Given the description of an element on the screen output the (x, y) to click on. 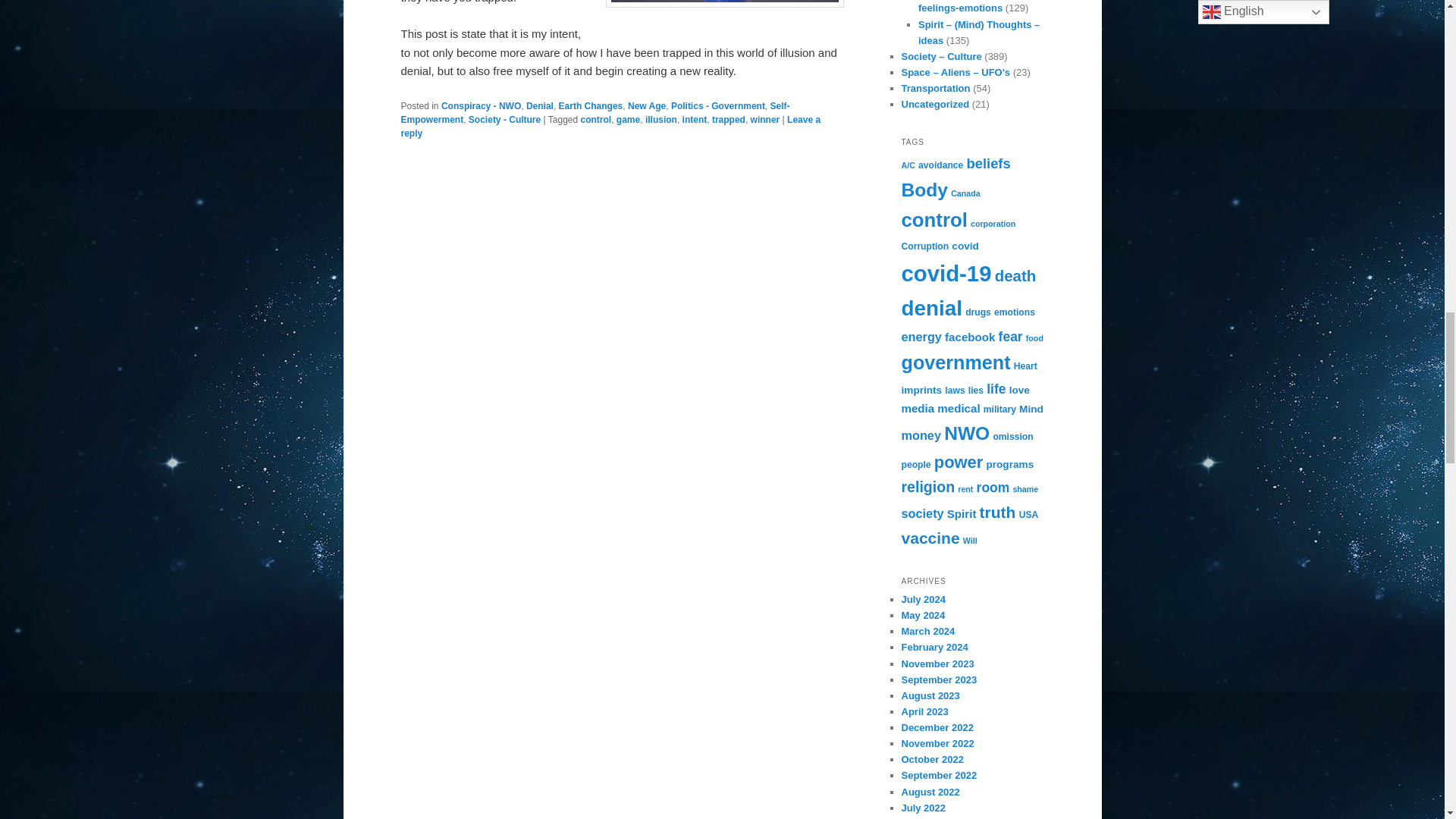
Conspiracy - NWO (481, 105)
